Given the description of an element on the screen output the (x, y) to click on. 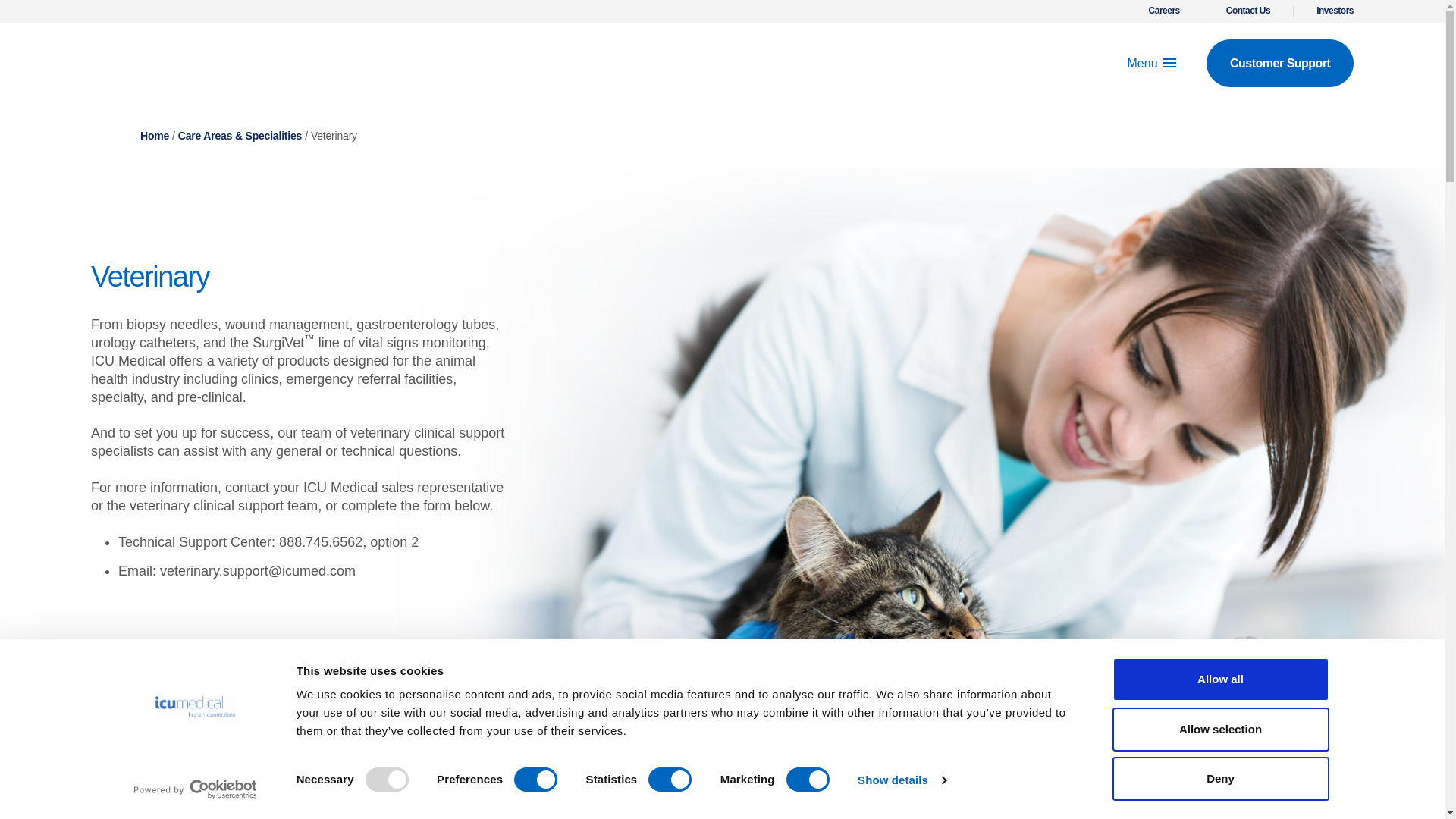
Show details (900, 780)
